Given the description of an element on the screen output the (x, y) to click on. 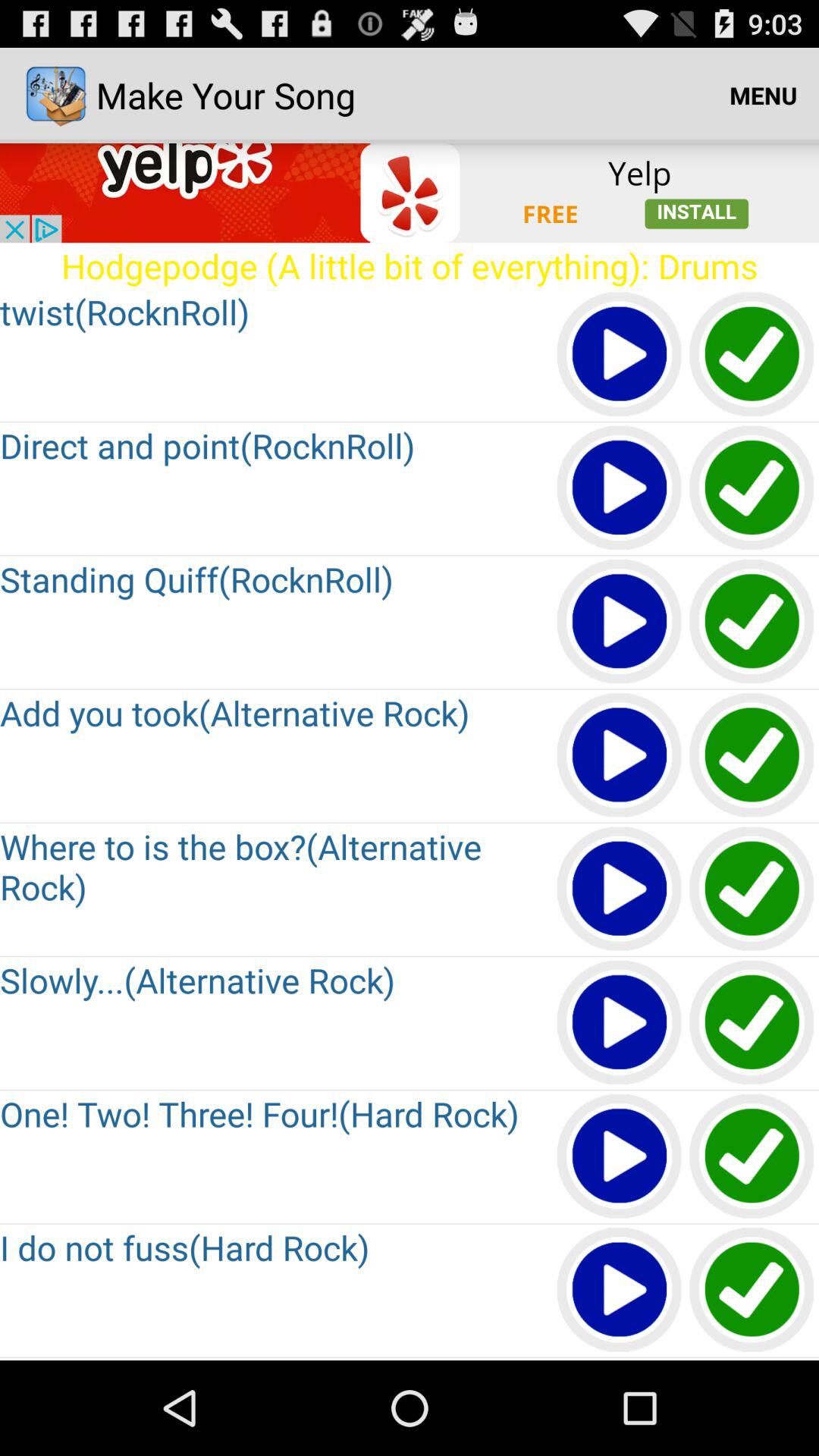
choose option (752, 488)
